Given the description of an element on the screen output the (x, y) to click on. 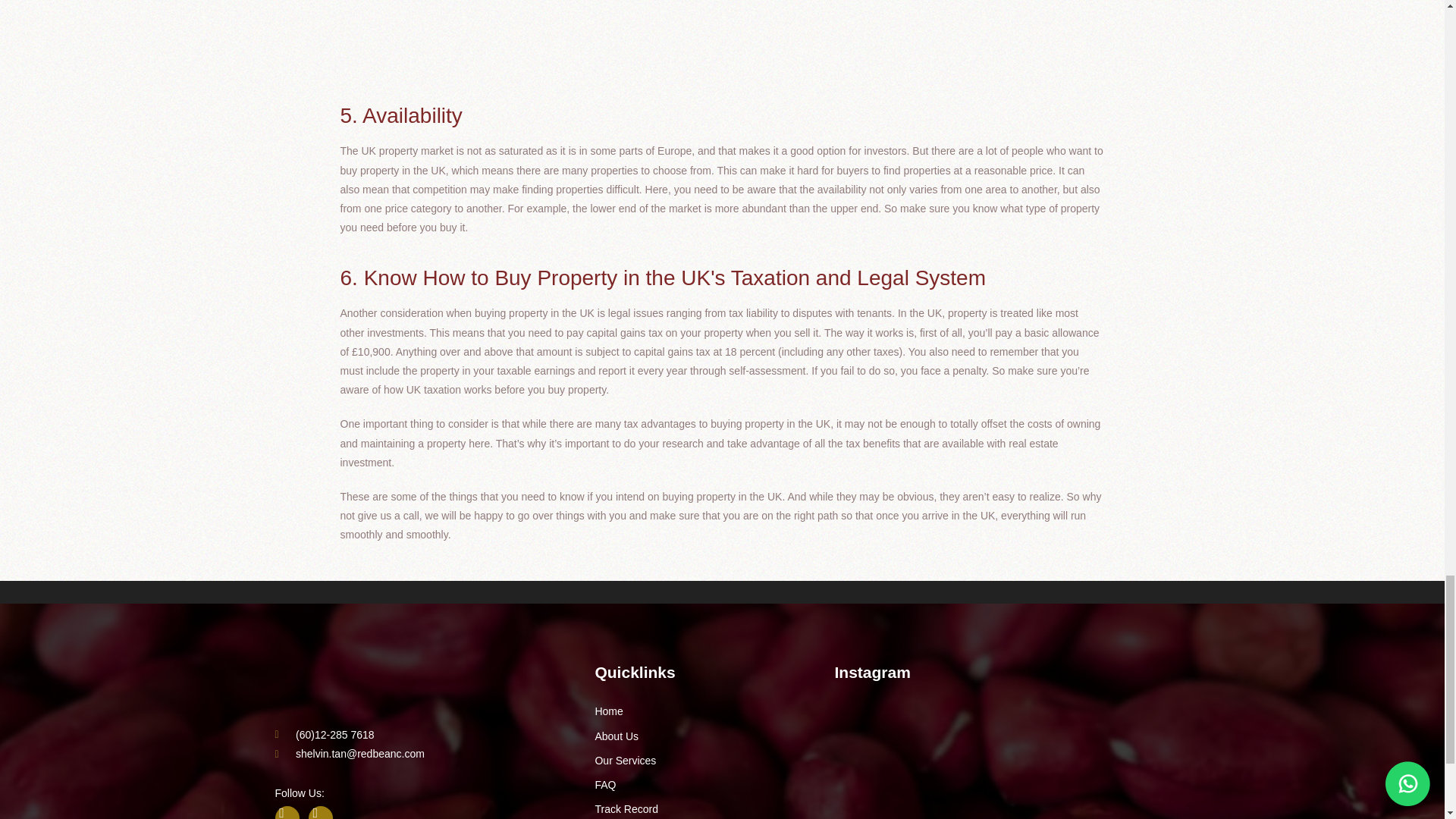
Our Services (625, 760)
Track Record (626, 808)
About Us (616, 736)
Home (608, 711)
FAQ (604, 784)
